Given the description of an element on the screen output the (x, y) to click on. 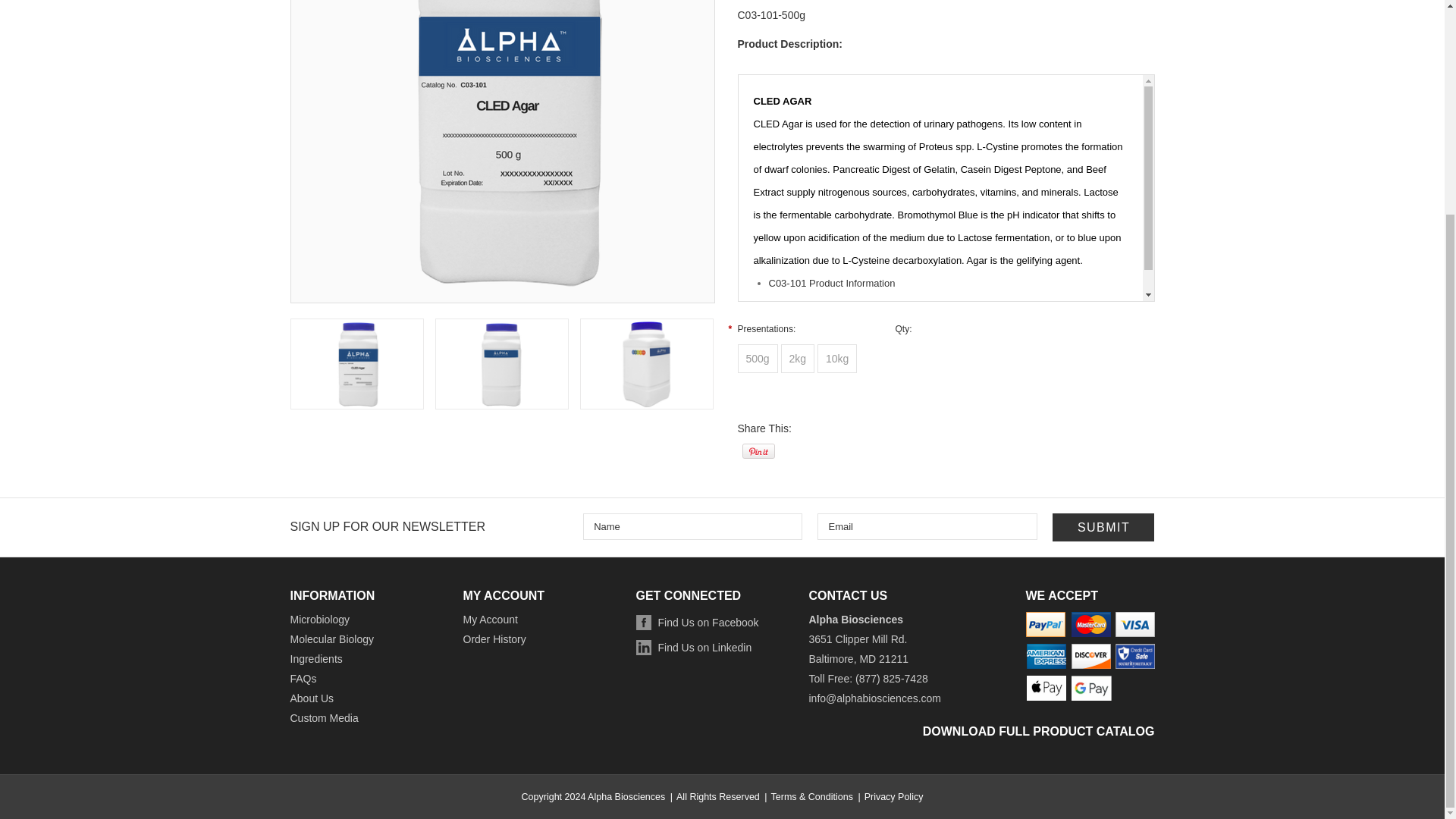
Submit (1103, 527)
Email (926, 526)
LinkedIn (700, 649)
Image 1 (502, 147)
Image 2 (501, 363)
Image 3 (646, 363)
Image 1 (356, 363)
Facebook (704, 623)
Name (692, 526)
